Given the description of an element on the screen output the (x, y) to click on. 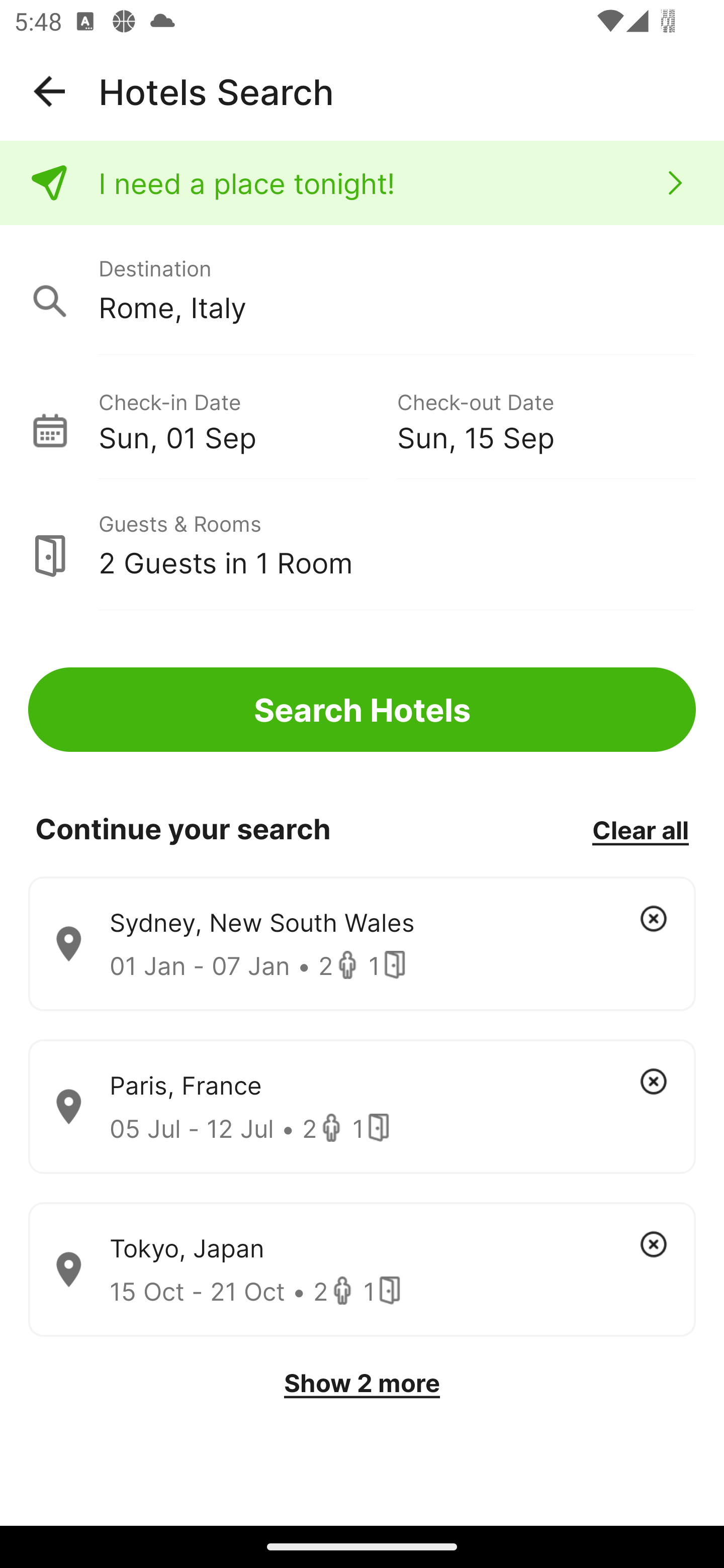
I need a place tonight! (362, 183)
Destination Rome, Italy (362, 290)
Check-in Date Sun, 01 Sep (247, 418)
Check-out Date Sun, 15 Sep (546, 418)
Guests & Rooms 2 Guests in 1 Room (362, 545)
Search Hotels (361, 709)
Clear all (640, 829)
Sydney, New South Wales 01 Jan - 07 Jan • 2  1  (361, 943)
Paris, France 05 Jul - 12 Jul • 2  1  (361, 1106)
Tokyo, Japan 15 Oct - 21 Oct • 2  1  (361, 1269)
Show 2 more (362, 1382)
